Given the description of an element on the screen output the (x, y) to click on. 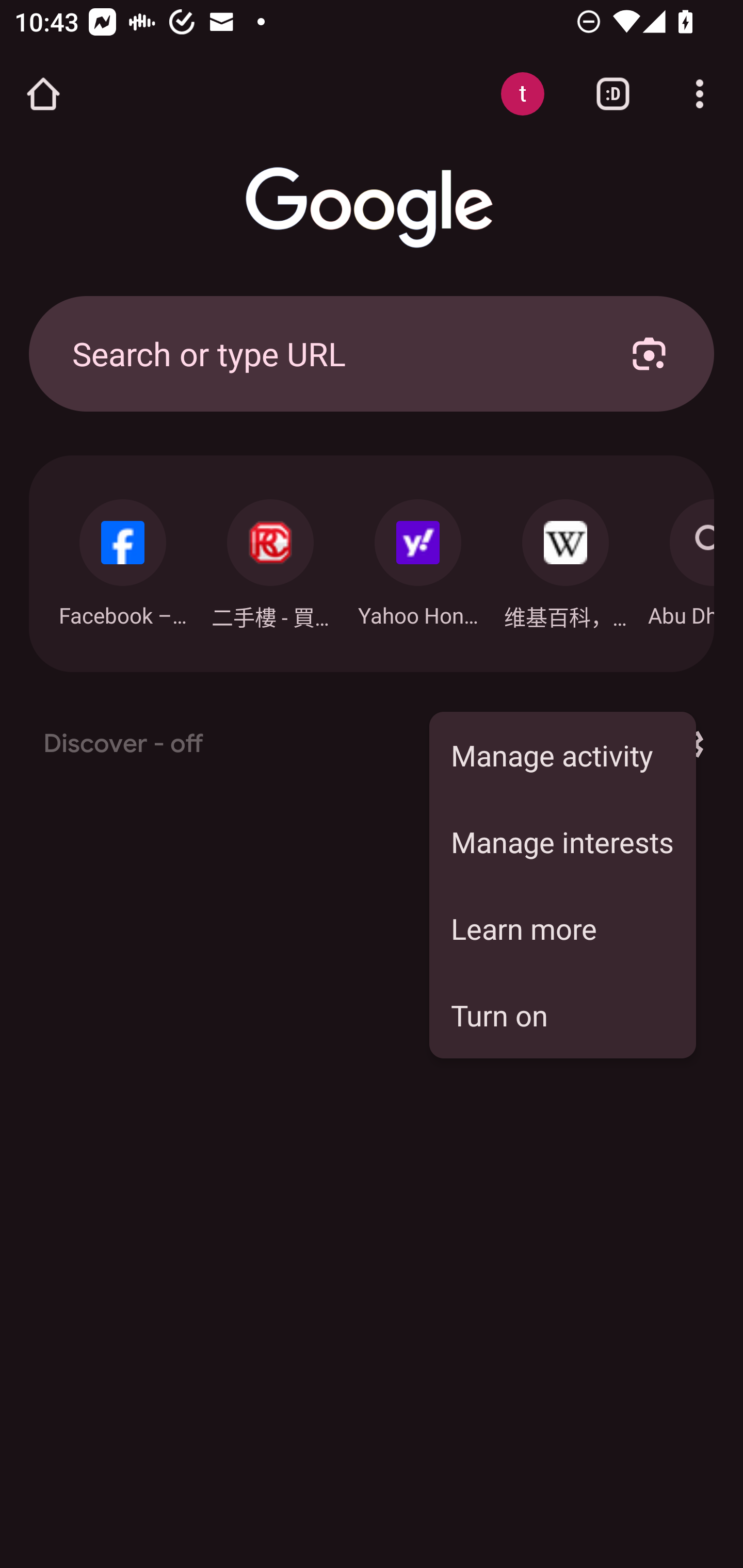
Manage activity (562, 754)
Manage interests (562, 841)
Learn more (562, 928)
Turn on (562, 1015)
